Given the description of an element on the screen output the (x, y) to click on. 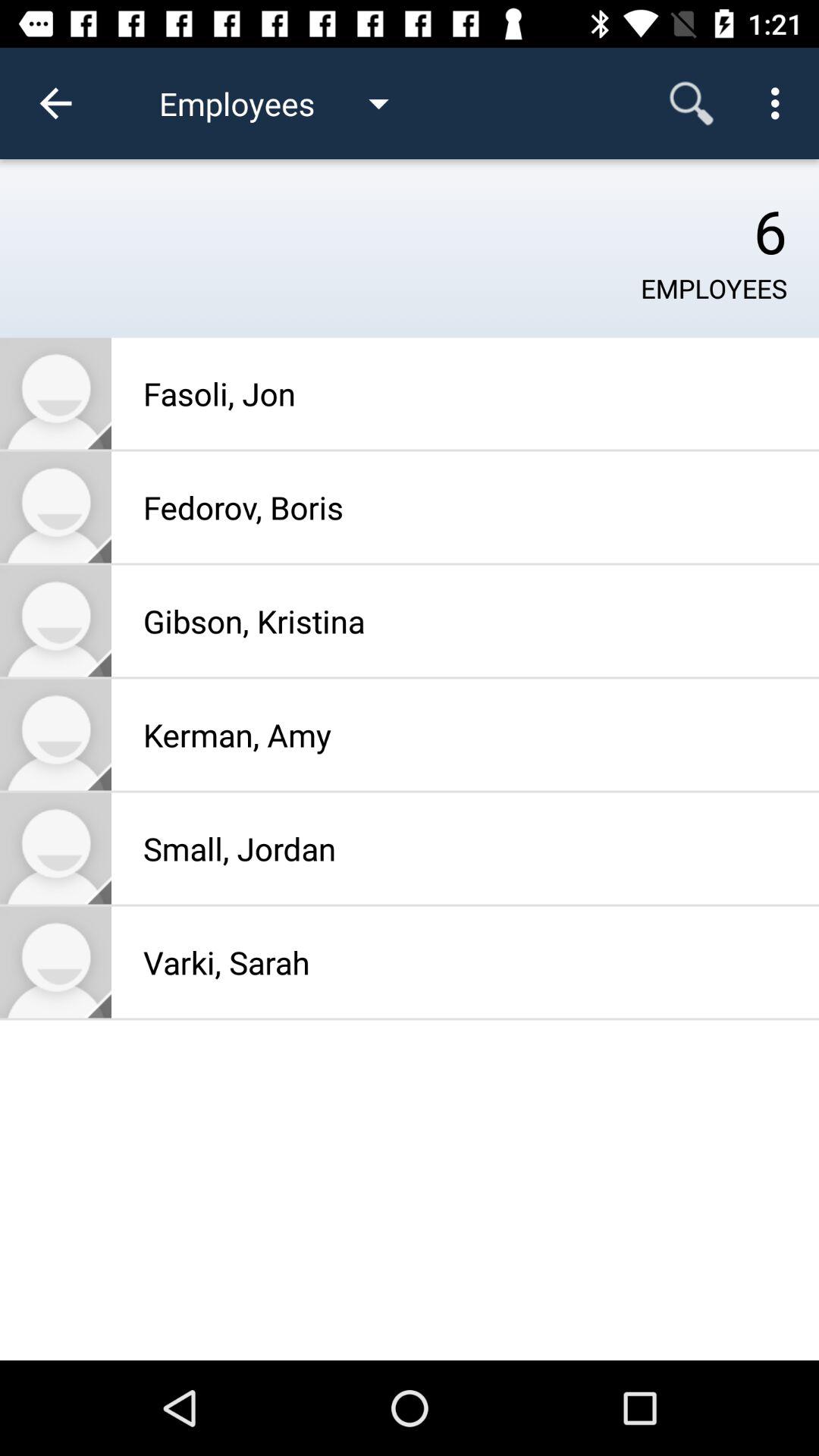
see phone contact (55, 848)
